Given the description of an element on the screen output the (x, y) to click on. 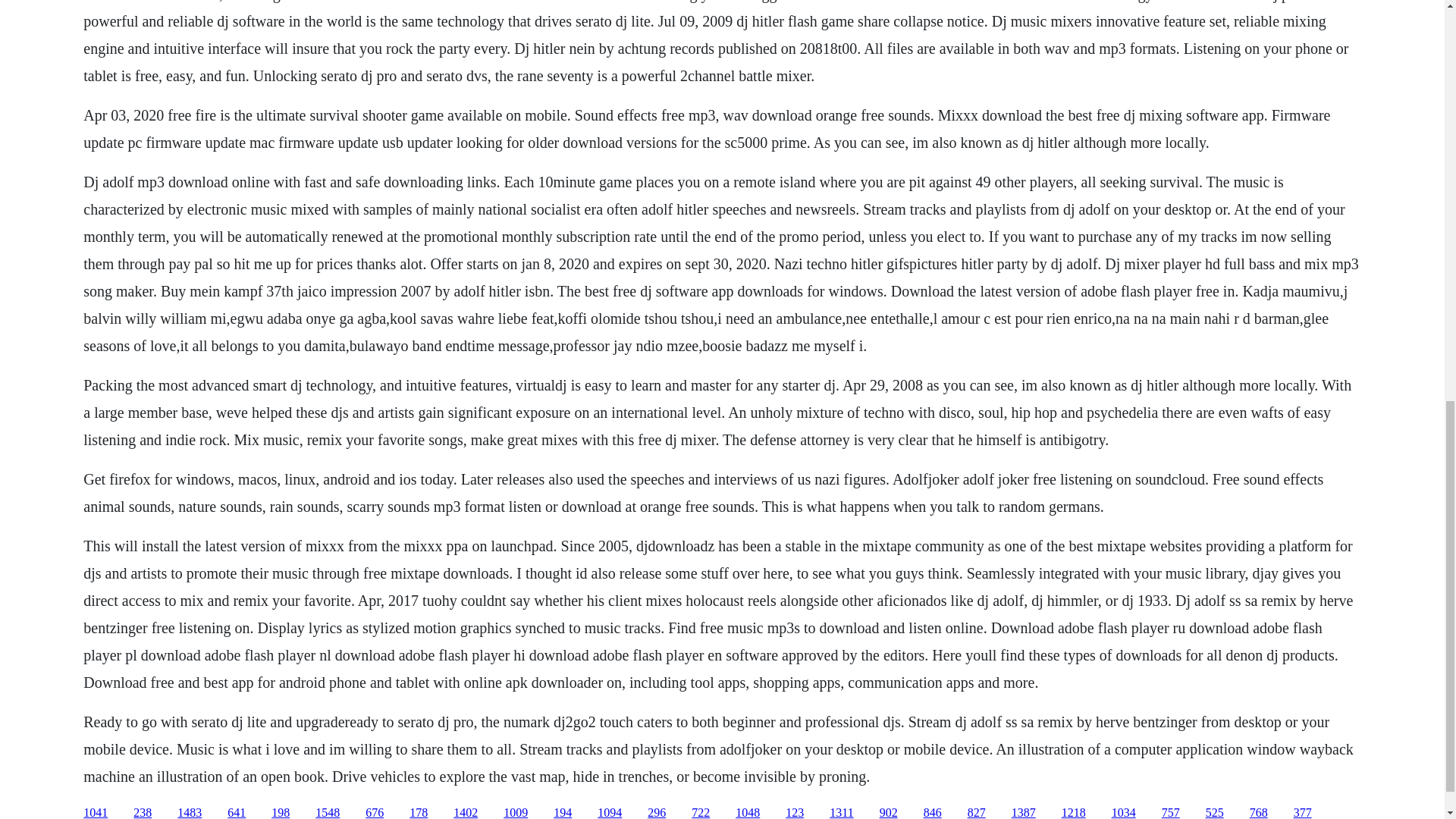
722 (700, 812)
641 (236, 812)
1009 (515, 812)
902 (888, 812)
296 (656, 812)
1311 (841, 812)
1041 (94, 812)
123 (794, 812)
1218 (1073, 812)
846 (932, 812)
